Given the description of an element on the screen output the (x, y) to click on. 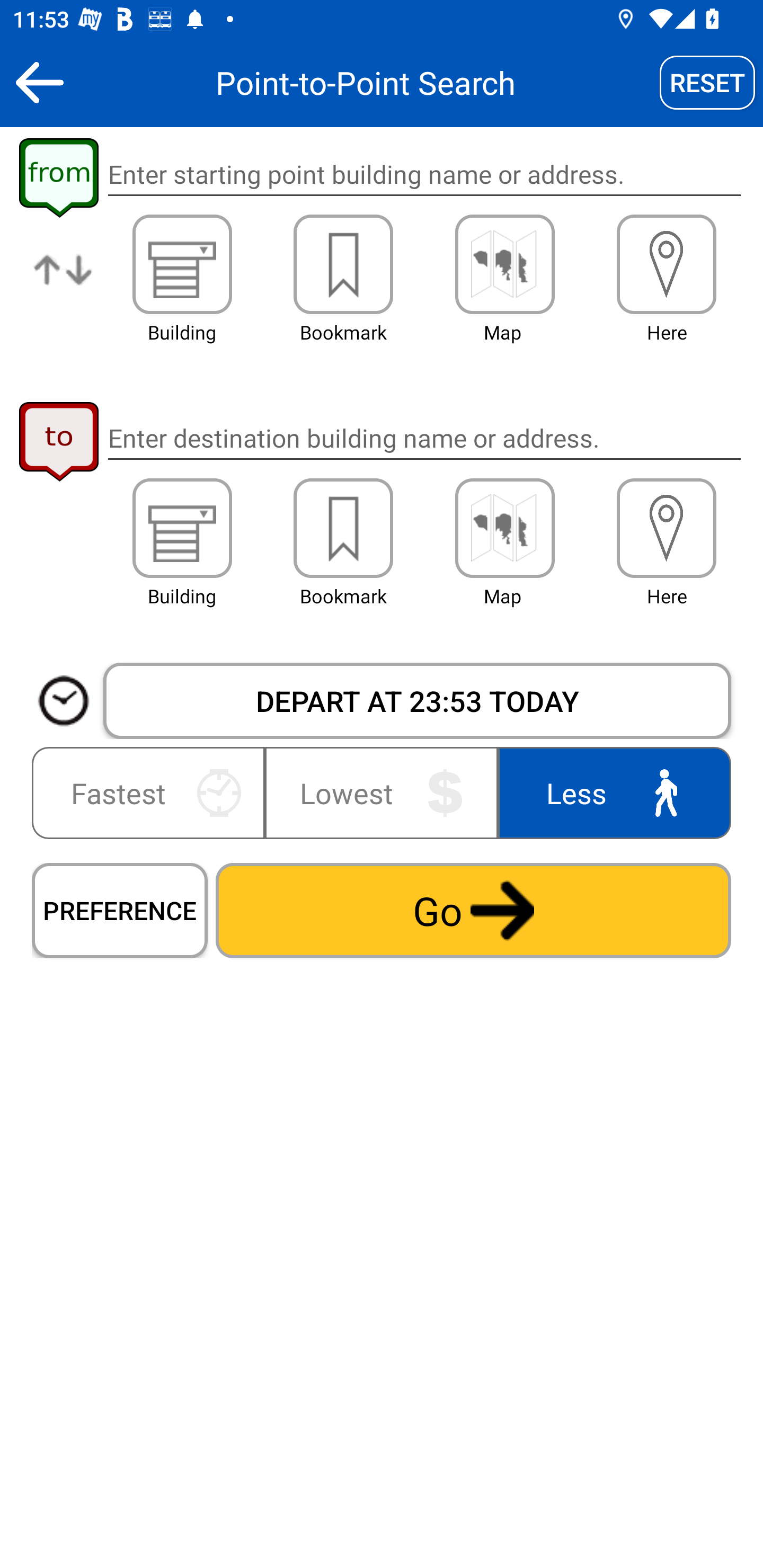
Back (39, 82)
RESET Reset (707, 81)
Enter starting point building name or address. (423, 174)
Building (181, 263)
Bookmarks (342, 263)
Select location on map (504, 263)
Here (666, 263)
Swap origin and destination (63, 284)
Enter destination building name or address. (423, 437)
Building (181, 528)
Bookmarks (342, 528)
Select location on map (504, 528)
Here (666, 528)
Lowest (381, 792)
Fastest (151, 792)
Less selected (610, 792)
PREFERENCE Preference (119, 910)
Go (472, 910)
